Given the description of an element on the screen output the (x, y) to click on. 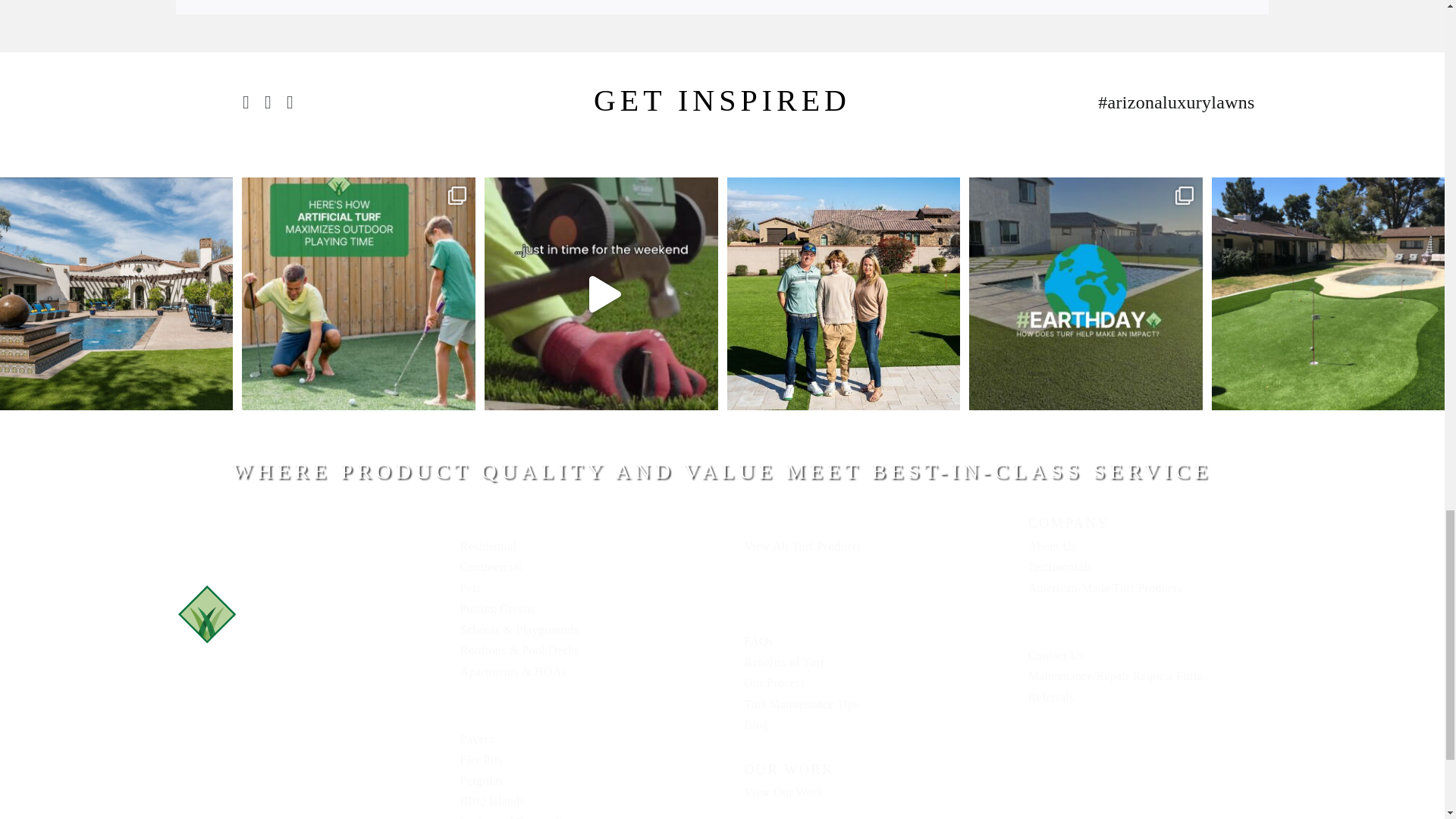
az-luxury-logo (296, 614)
